Given the description of an element on the screen output the (x, y) to click on. 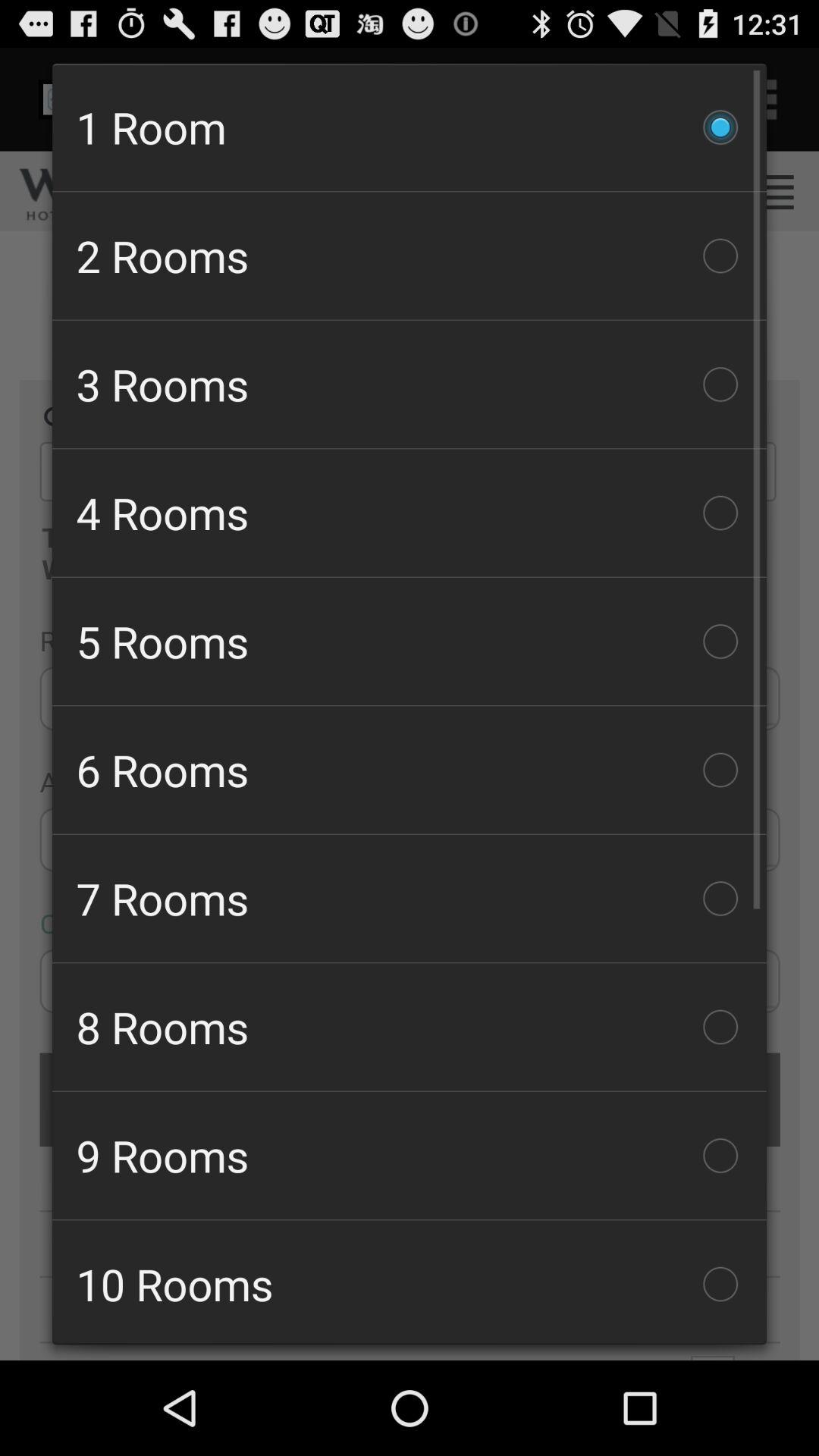
click the 3 rooms icon (409, 384)
